Given the description of an element on the screen output the (x, y) to click on. 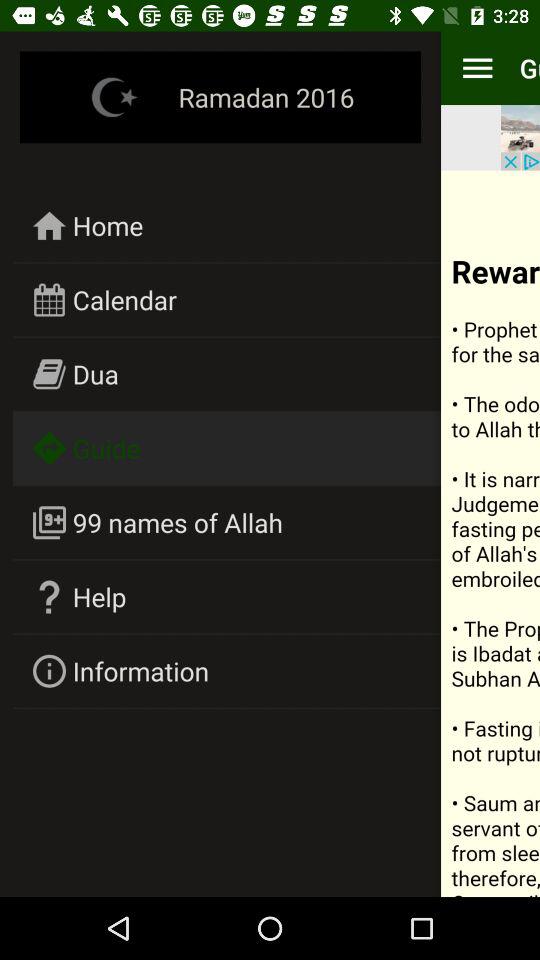
launch item next to 99 names of (490, 533)
